Given the description of an element on the screen output the (x, y) to click on. 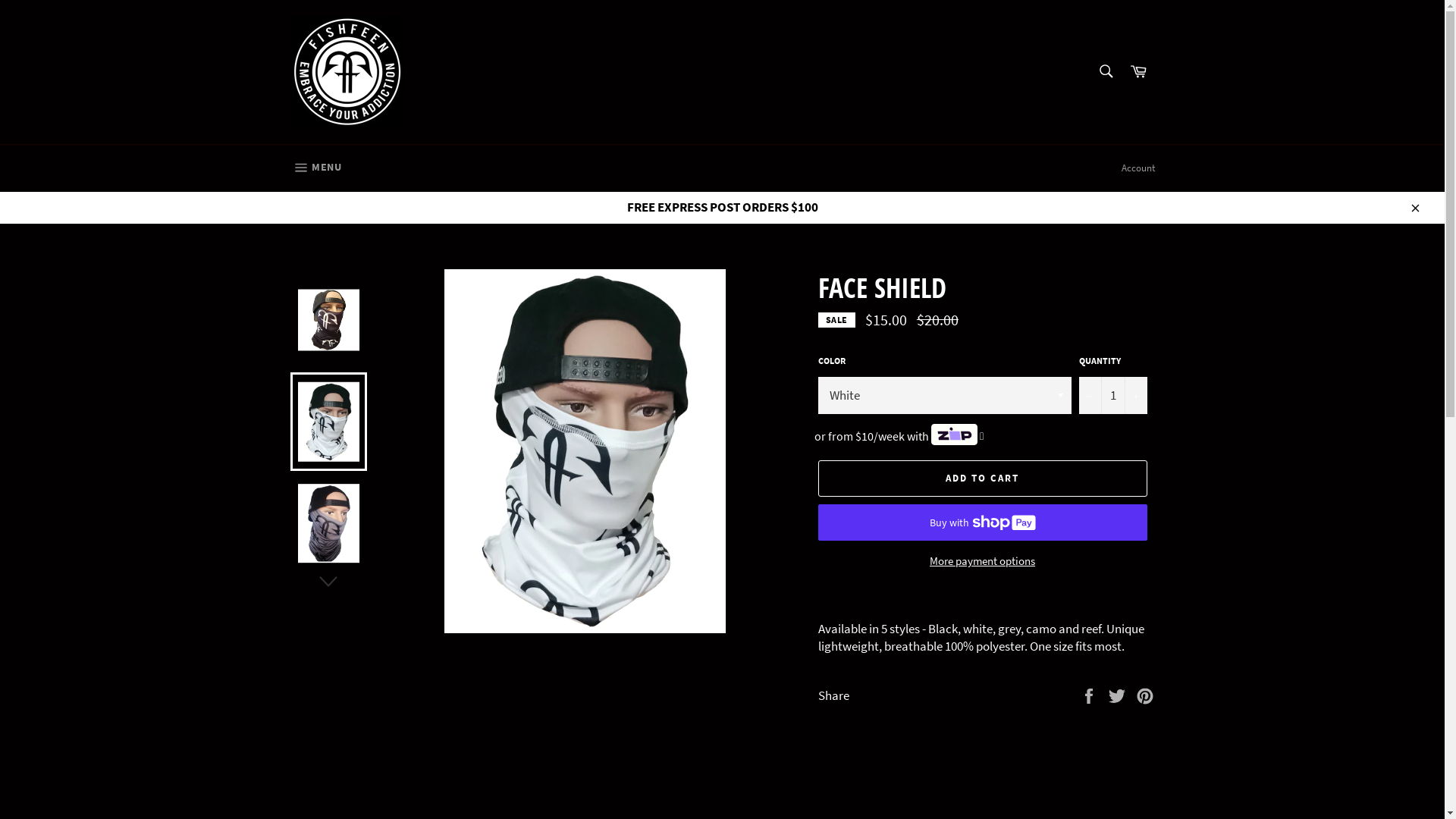
Account Element type: text (1137, 168)
MENU
SITE NAVIGATION Element type: text (315, 167)
+ Element type: text (1134, 395)
Share on Facebook Element type: text (1089, 694)
Tweet on Twitter Element type: text (1117, 694)
ADD TO CART Element type: text (981, 478)
More payment options Element type: text (981, 561)
Search Element type: text (1105, 70)
Pin on Pinterest Element type: text (1144, 694)
Close Element type: text (1414, 207)
Cart Element type: text (1138, 71)
